Given the description of an element on the screen output the (x, y) to click on. 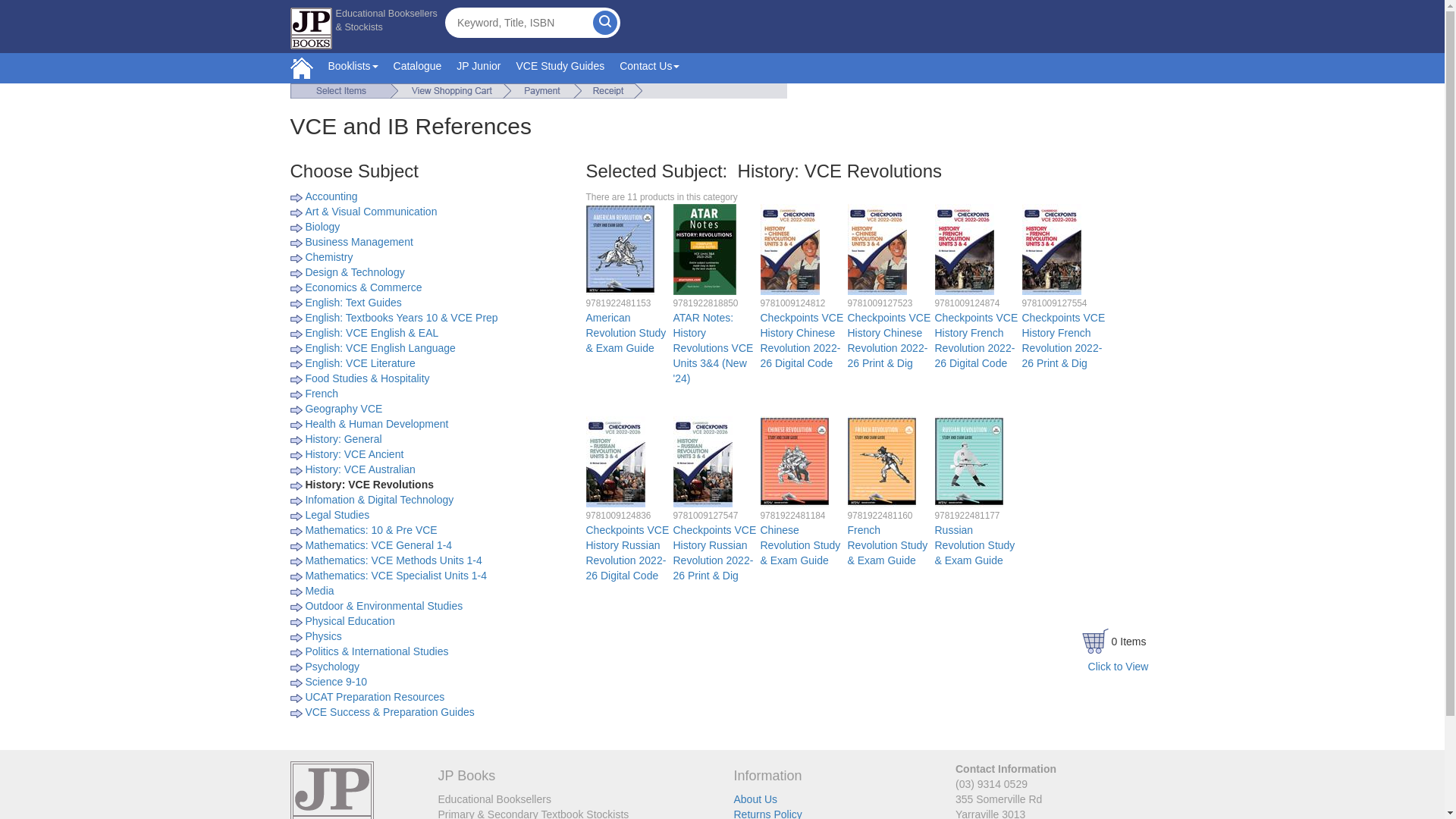
French Revolution Study & Exam Guide Element type: hover (881, 461)
Economics & Commerce Element type: text (362, 287)
Mathematics: VCE Specialist Units 1-4 Element type: text (395, 575)
History: VCE Ancient Element type: text (353, 454)
Infomation & Digital Technology Element type: text (378, 499)
Food Studies & Hospitality Element type: text (366, 378)
Legal Studies Element type: text (336, 514)
English: VCE English & EAL Element type: text (371, 332)
Biology Element type: text (321, 226)
Chinese Revolution Study & Exam Guide Element type: text (799, 545)
Mathematics: VCE General 1-4 Element type: text (377, 545)
Booklists Element type: text (352, 68)
VCE Success & Preparation Guides Element type: text (388, 712)
VCE Study Guides Element type: text (559, 68)
Design & Technology Element type: text (354, 272)
Geography VCE Element type: text (343, 408)
Chemistry Element type: text (328, 257)
Chinese Revolution Study & Exam Guide Element type: hover (793, 461)
Art & Visual Communication Element type: text (370, 211)
Mathematics: 10 & Pre VCE Element type: text (370, 530)
Psychology Element type: text (331, 666)
American Revolution Study & Exam Guide Element type: text (625, 332)
Russian Revolution Study & Exam Guide Element type: hover (968, 461)
American Revolution Study & Exam Guide Element type: hover (619, 248)
JP Junior Element type: text (478, 68)
Catalogue Element type: text (417, 68)
Contact Us Element type: text (649, 68)
French Revolution Study & Exam Guide Element type: text (887, 545)
Click to View Element type: text (1118, 666)
English: Textbooks Years 10 & VCE Prep Element type: text (400, 317)
History: VCE Australian Element type: text (359, 469)
English: VCE Literature Element type: text (359, 363)
ATAR Notes: History Revolutions VCE Units 3&4 (New '24) Element type: text (713, 347)
Accounting Element type: text (330, 196)
Physical Education Element type: text (349, 621)
Mathematics: VCE Methods Units 1-4 Element type: text (392, 560)
Business Management Element type: text (358, 241)
Physics Element type: text (322, 636)
Search Element type: text (605, 22)
History: General Element type: text (342, 439)
Health & Human Development Element type: text (376, 423)
English: Text Guides Element type: text (352, 302)
Politics & International Studies Element type: text (376, 651)
UCAT Preparation Resources Element type: text (374, 696)
Outdoor & Environmental Studies Element type: text (383, 605)
Media Element type: text (318, 590)
Russian Revolution Study & Exam Guide Element type: text (974, 545)
French Element type: text (321, 393)
About Us Element type: text (756, 799)
English: VCE English Language Element type: text (379, 348)
ATAR Notes: History Revolutions VCE Units 3&4 (New  Element type: hover (704, 248)
Science 9-10 Element type: text (335, 681)
